Given the description of an element on the screen output the (x, y) to click on. 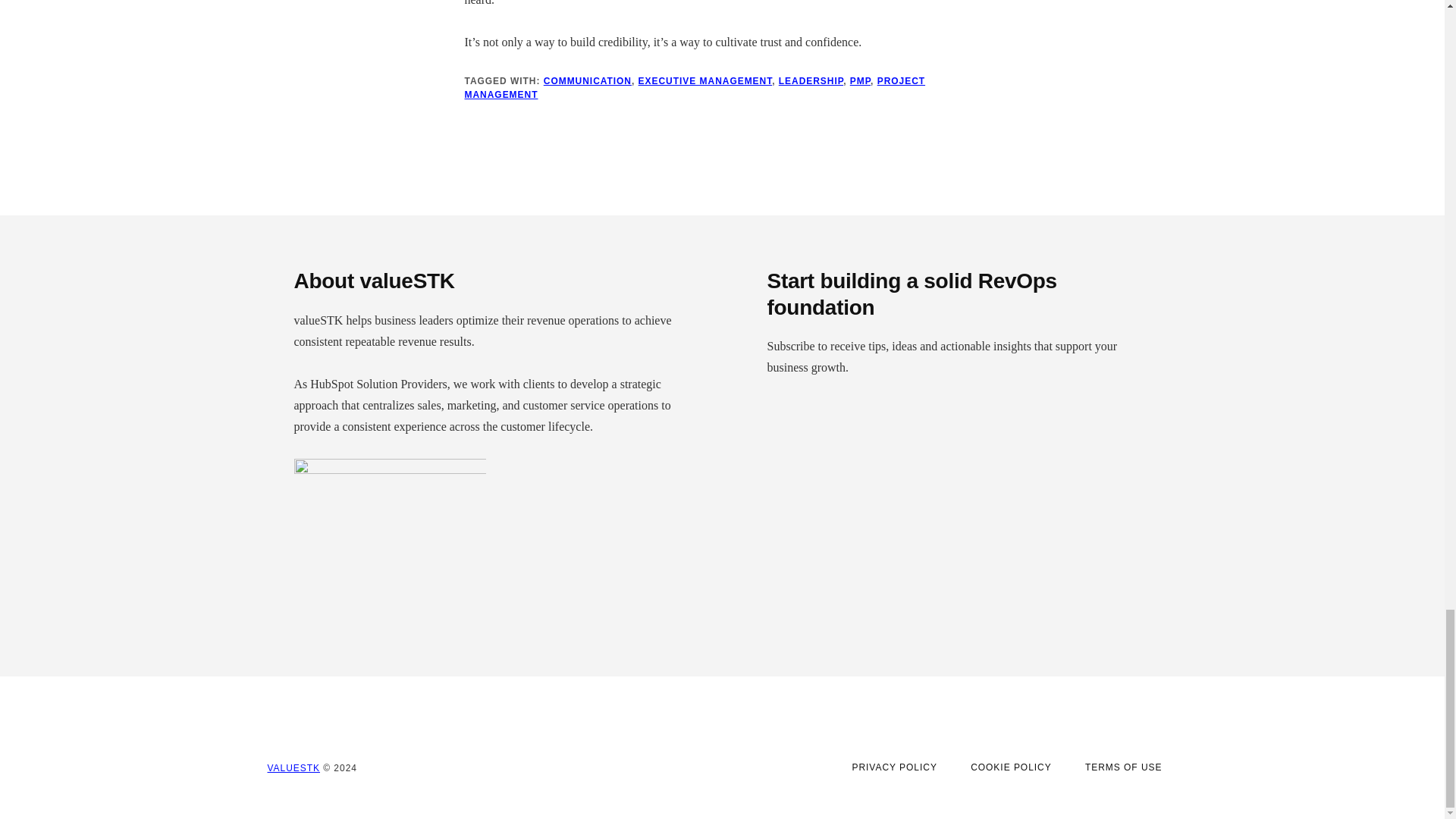
PROJECT MANAGEMENT (694, 87)
VALUESTK (292, 767)
COOKIE POLICY (1011, 767)
COMMUNICATION (587, 81)
LEADERSHIP (810, 81)
EXECUTIVE MANAGEMENT (706, 81)
PMP (860, 81)
TERMS OF USE (1123, 767)
PRIVACY POLICY (893, 767)
